Given the description of an element on the screen output the (x, y) to click on. 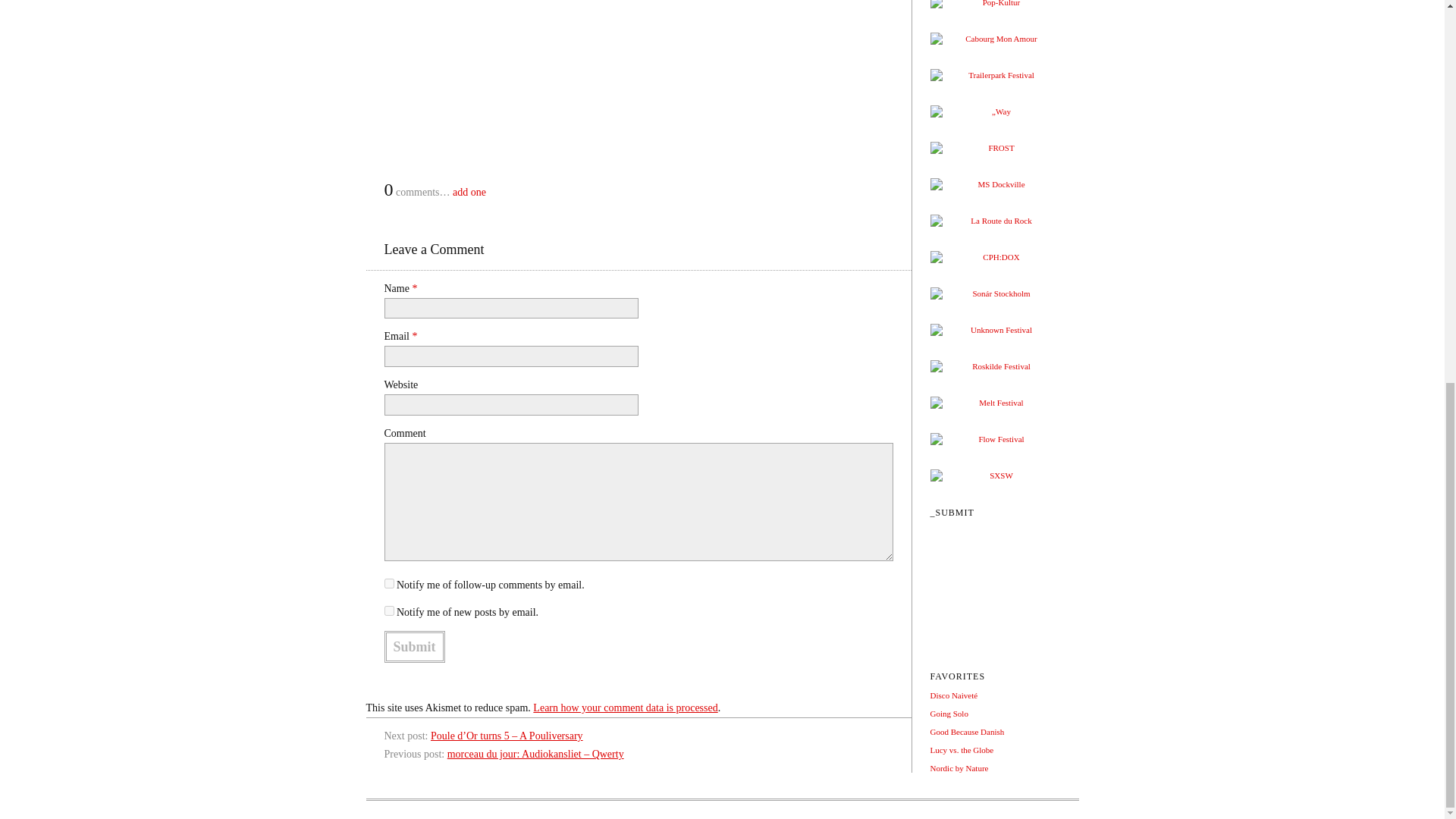
Learn how your comment data is processed (624, 707)
Steffi and Nina rule the world (959, 768)
one fine femme of sass (961, 749)
subscribe (388, 610)
the CNN of music blogs (953, 695)
Submit (414, 646)
add one (469, 192)
subscribe (388, 583)
Authority on everything Danish (967, 731)
Submit (414, 646)
